Given the description of an element on the screen output the (x, y) to click on. 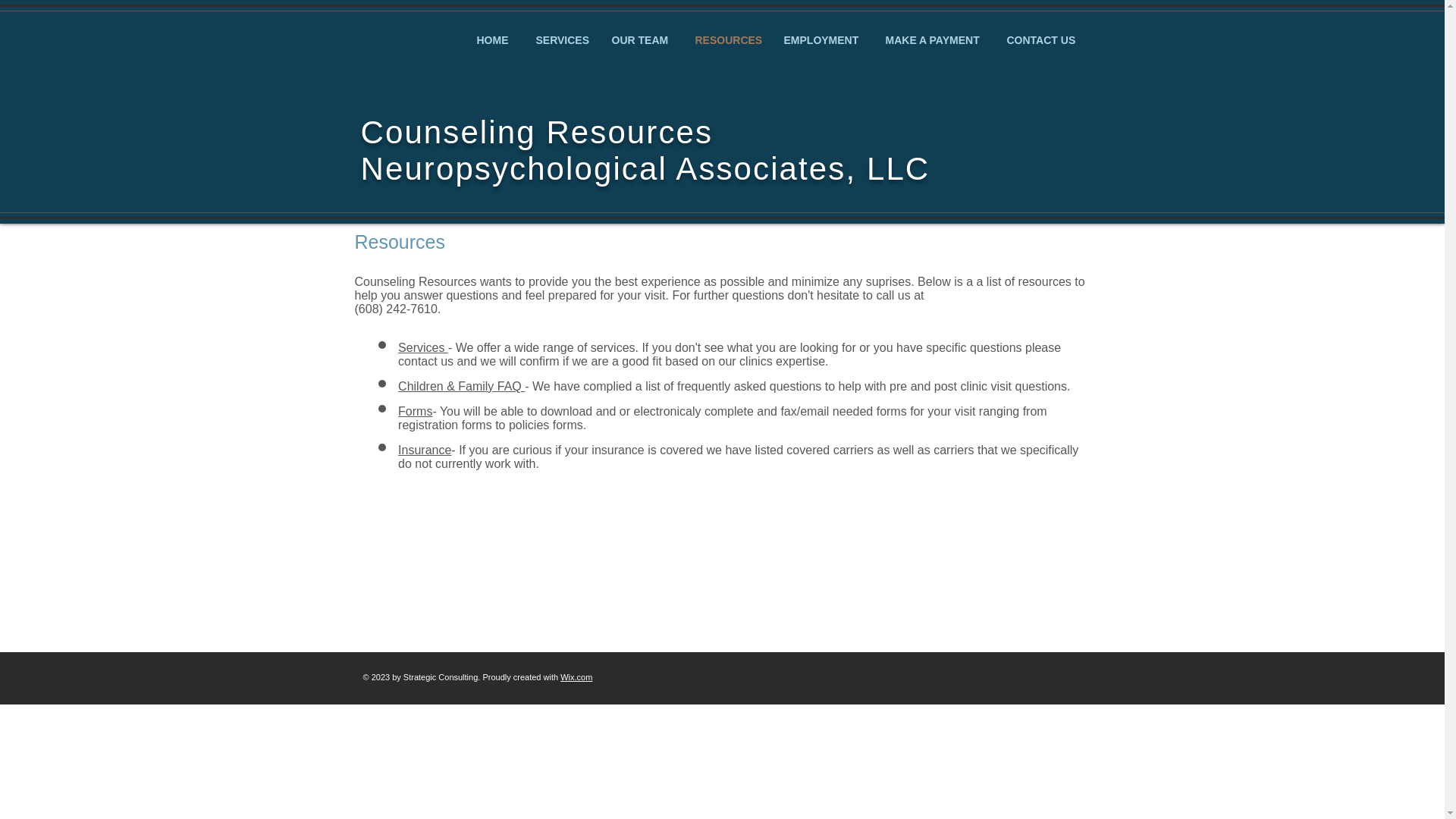
CONTACT US (1039, 40)
HOME (492, 40)
Insurance (424, 449)
Forms (414, 410)
OUR TEAM (638, 40)
Services (422, 347)
MAKE A PAYMENT (932, 40)
EMPLOYMENT (821, 40)
SERVICES (558, 40)
Wix.com (576, 676)
RESOURCES (725, 40)
